Given the description of an element on the screen output the (x, y) to click on. 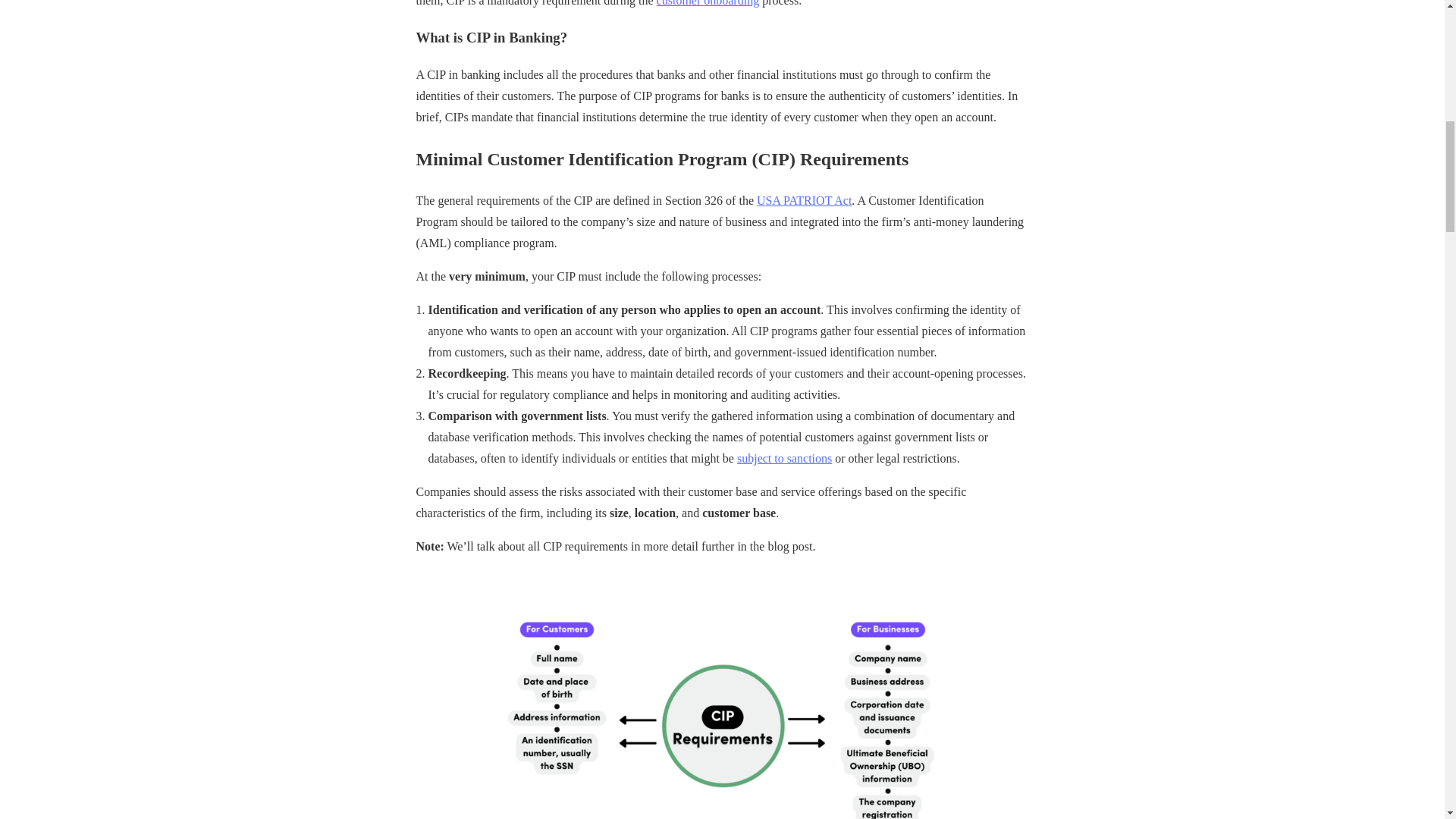
subject to sanctions (783, 458)
customer onboarding (708, 3)
USA PATRIOT Act (804, 200)
